Given the description of an element on the screen output the (x, y) to click on. 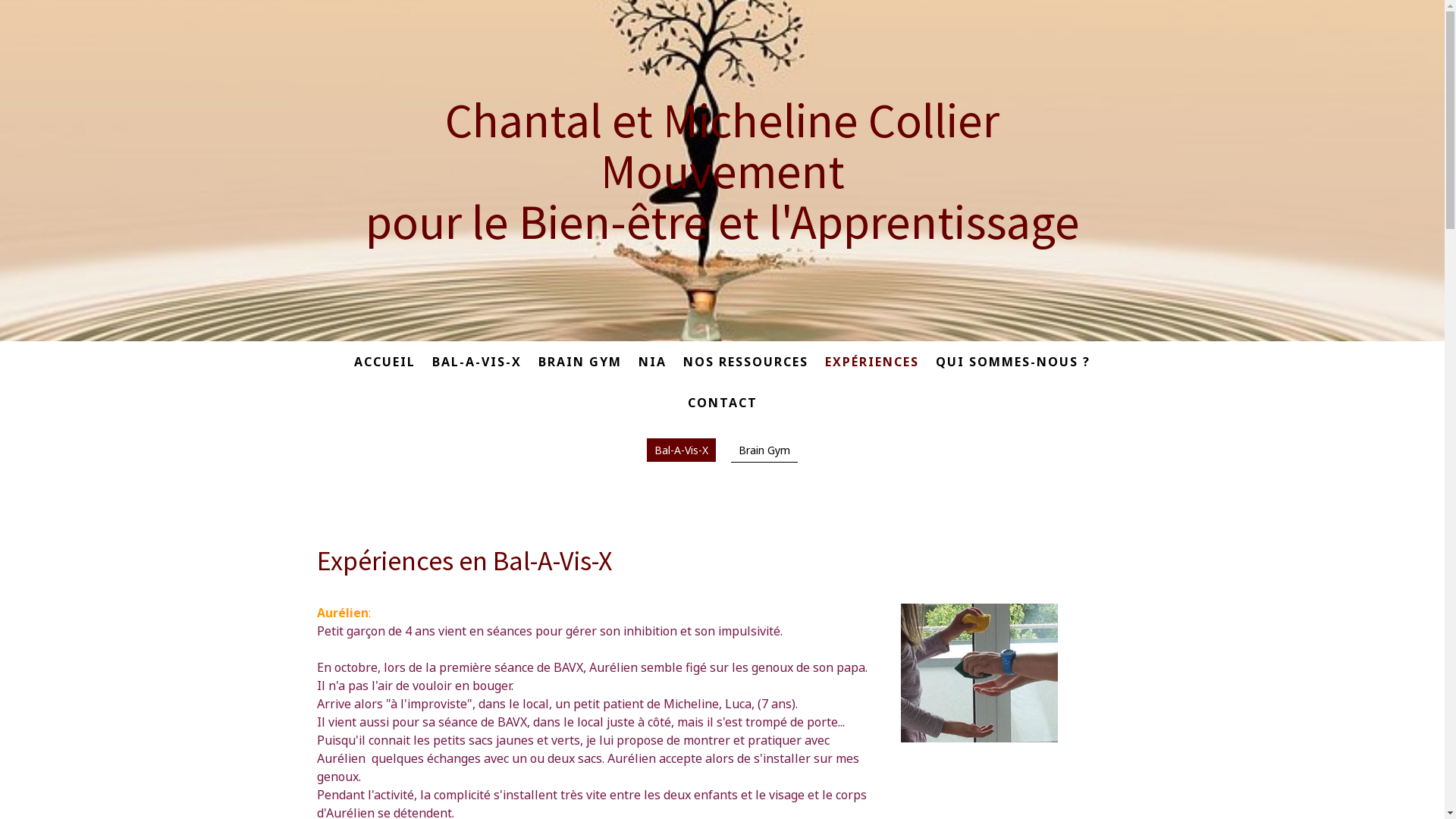
BRAIN GYM Element type: text (580, 361)
BAL-A-VIS-X Element type: text (476, 361)
ACCUEIL Element type: text (384, 361)
CONTACT Element type: text (722, 402)
Brain Gym Element type: text (764, 450)
NIA Element type: text (652, 361)
NOS RESSOURCES Element type: text (745, 361)
QUI SOMMES-NOUS ? Element type: text (1012, 361)
Bal-A-Vis-X Element type: text (680, 451)
